Given the description of an element on the screen output the (x, y) to click on. 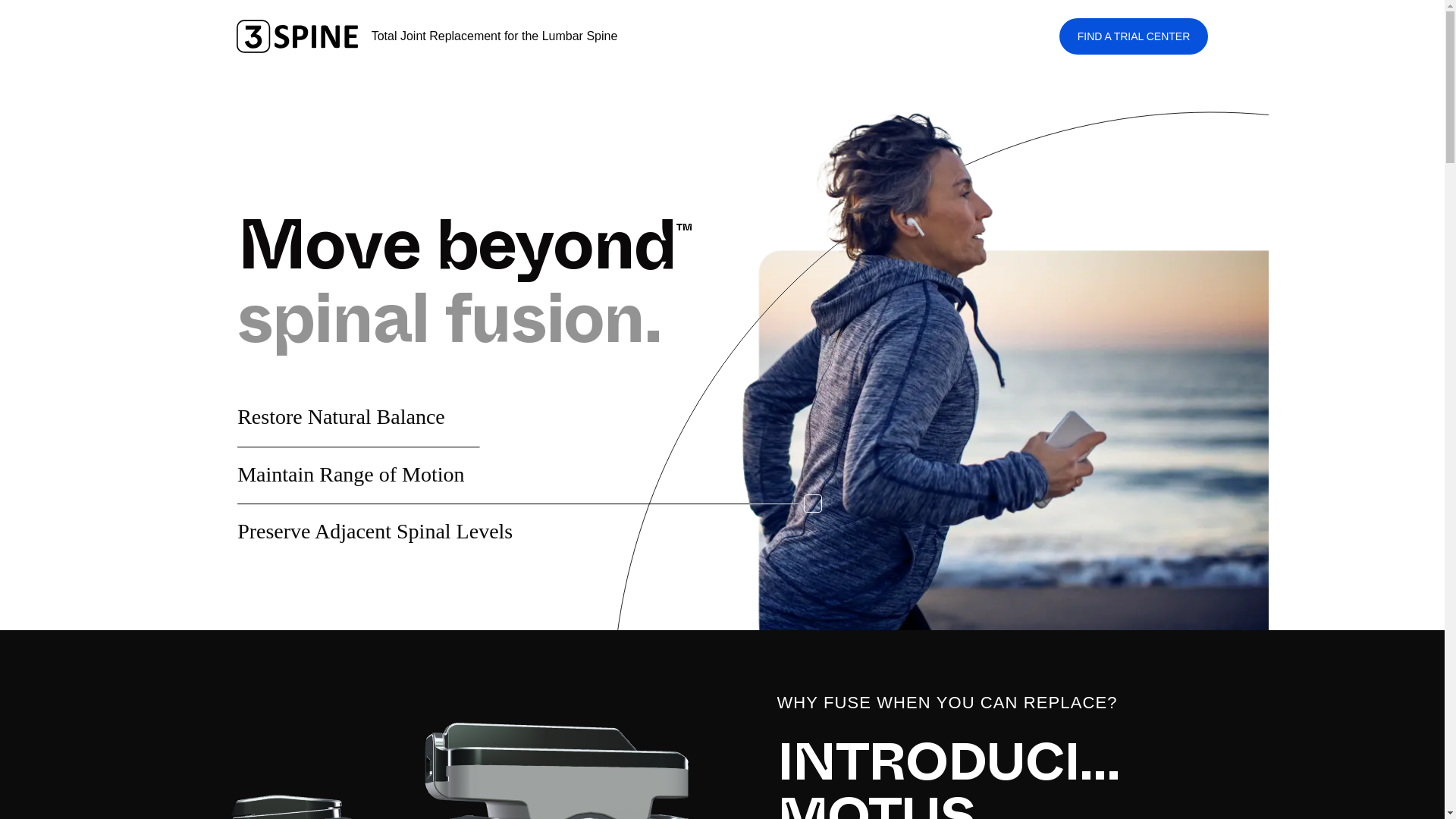
FIND A TRIAL CENTER Element type: text (1133, 36)
FIND A TRIAL CENTER Element type: text (1133, 36)
